Given the description of an element on the screen output the (x, y) to click on. 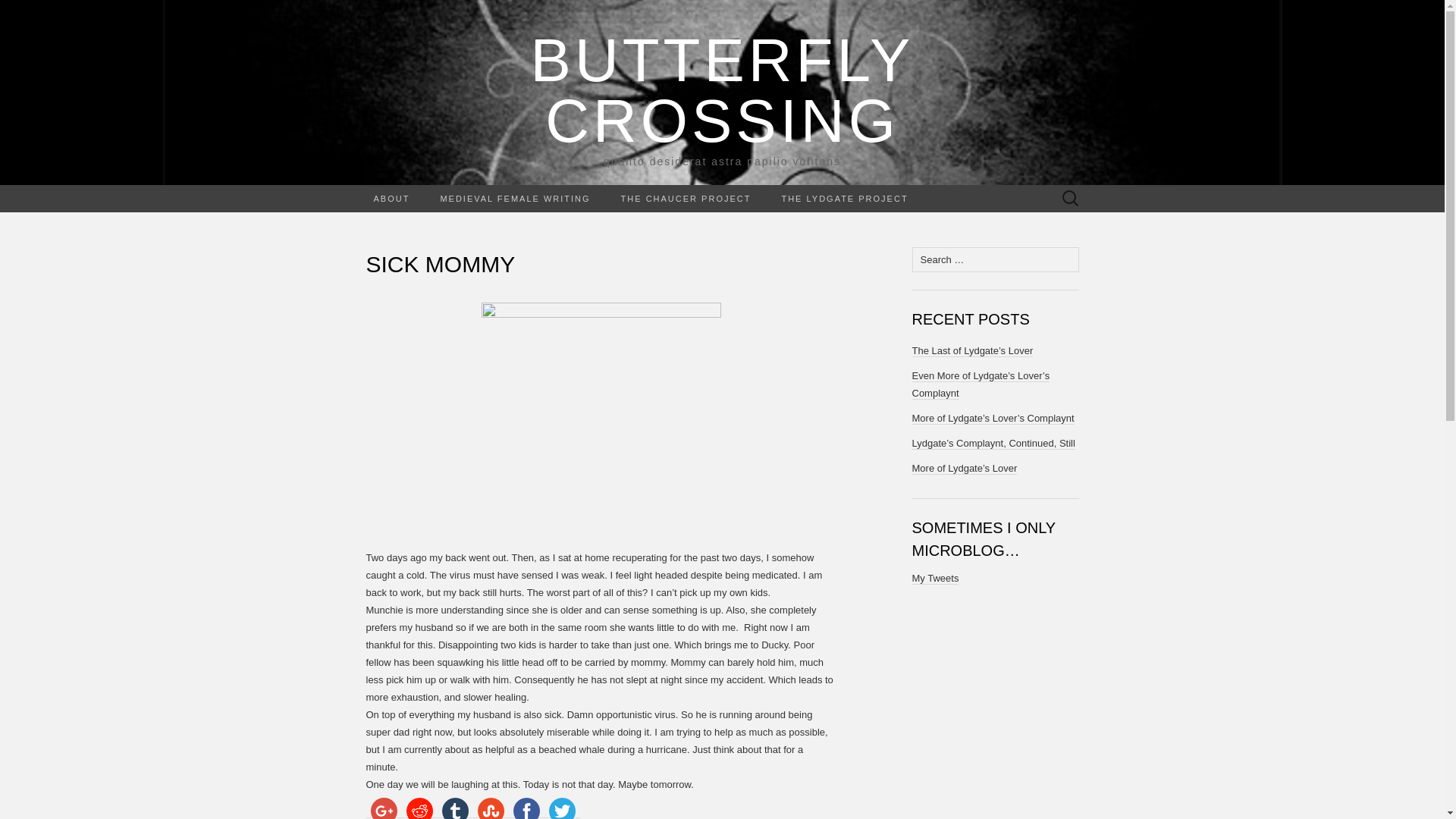
reddit (419, 806)
stumbleupon (490, 806)
ABOUT (391, 198)
facebook (525, 806)
THE LYDGATE PROJECT (844, 198)
My Tweets (934, 578)
MEDIEVAL FEMALE WRITING (383, 806)
